Given the description of an element on the screen output the (x, y) to click on. 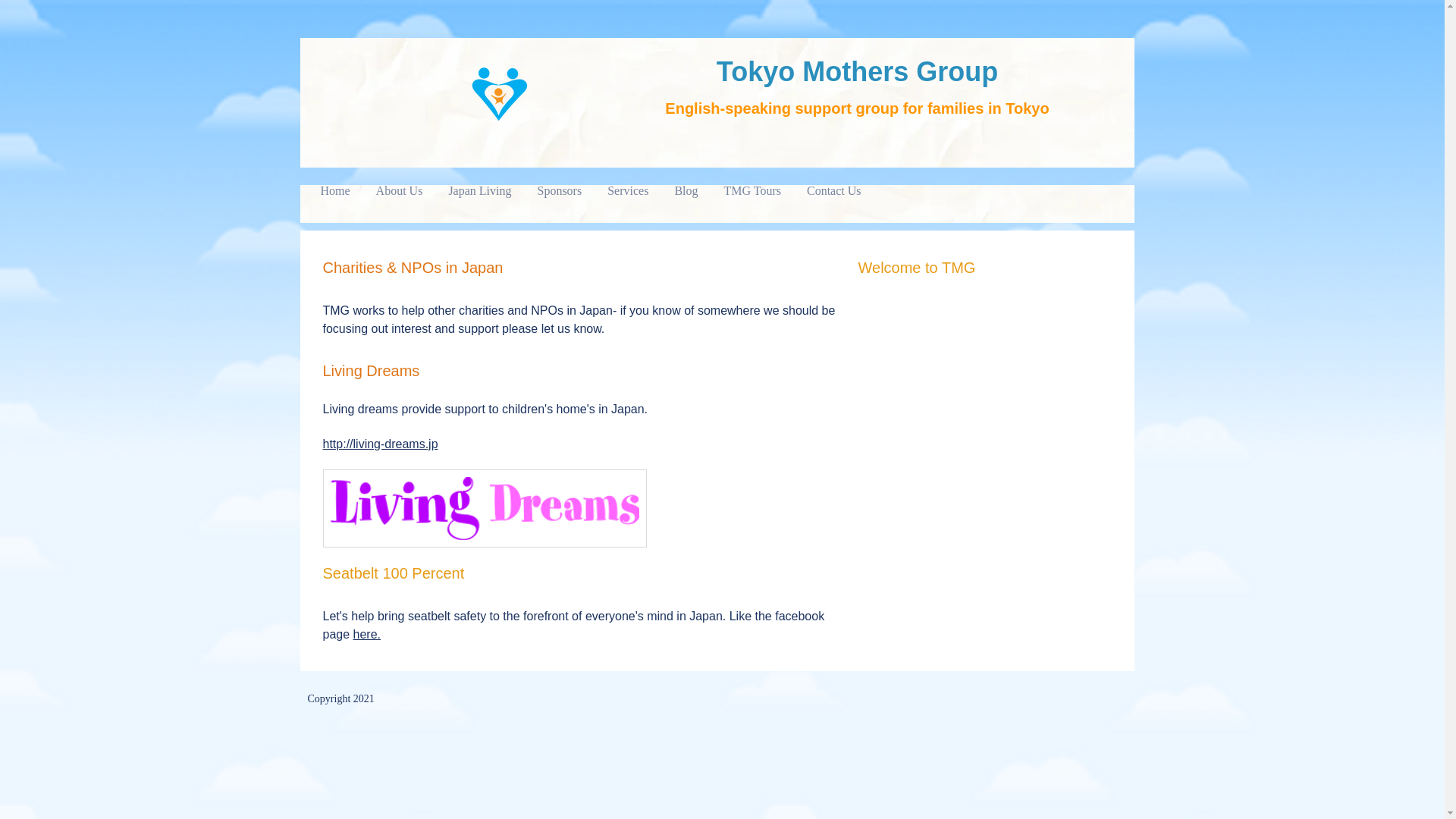
here. (366, 635)
About Us (398, 190)
Contact Us (834, 190)
Home (334, 190)
TMG Tours (752, 190)
Sponsors (559, 190)
Japan Living (479, 190)
Blog (685, 190)
Services (627, 190)
